Given the description of an element on the screen output the (x, y) to click on. 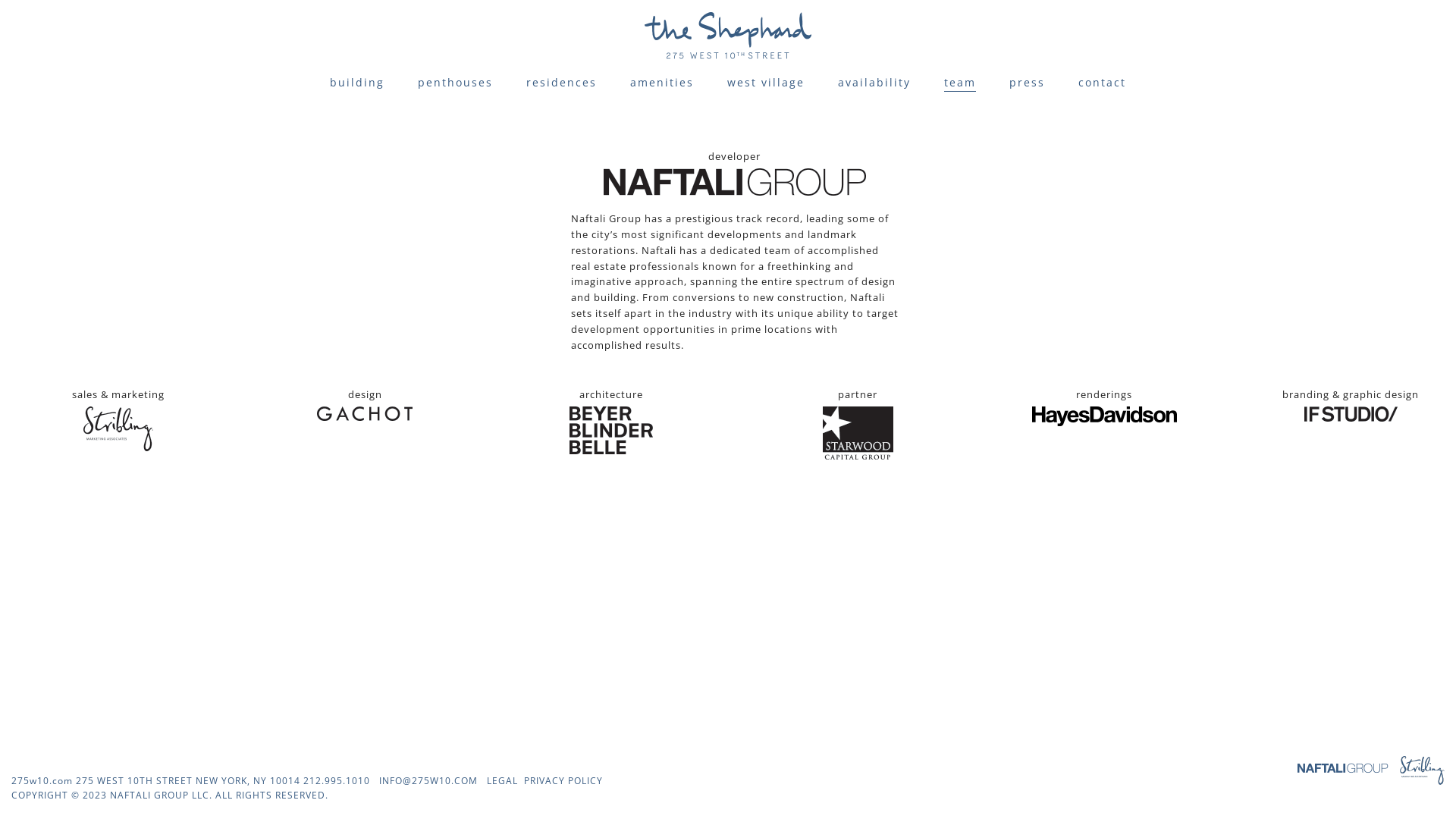
  PRIVACY POLICY Element type: text (559, 780)
INFO@275W10.COM Element type: text (428, 780)
212.995.1010 Element type: text (336, 780)
LEGAL Element type: text (501, 780)
penthouses Element type: text (454, 82)
building Element type: text (356, 82)
residences Element type: text (561, 82)
contact Element type: text (1102, 82)
west village Element type: text (765, 82)
press Element type: text (1026, 82)
amenities Element type: text (661, 82)
team Element type: text (959, 83)
availability Element type: text (873, 82)
